Given the description of an element on the screen output the (x, y) to click on. 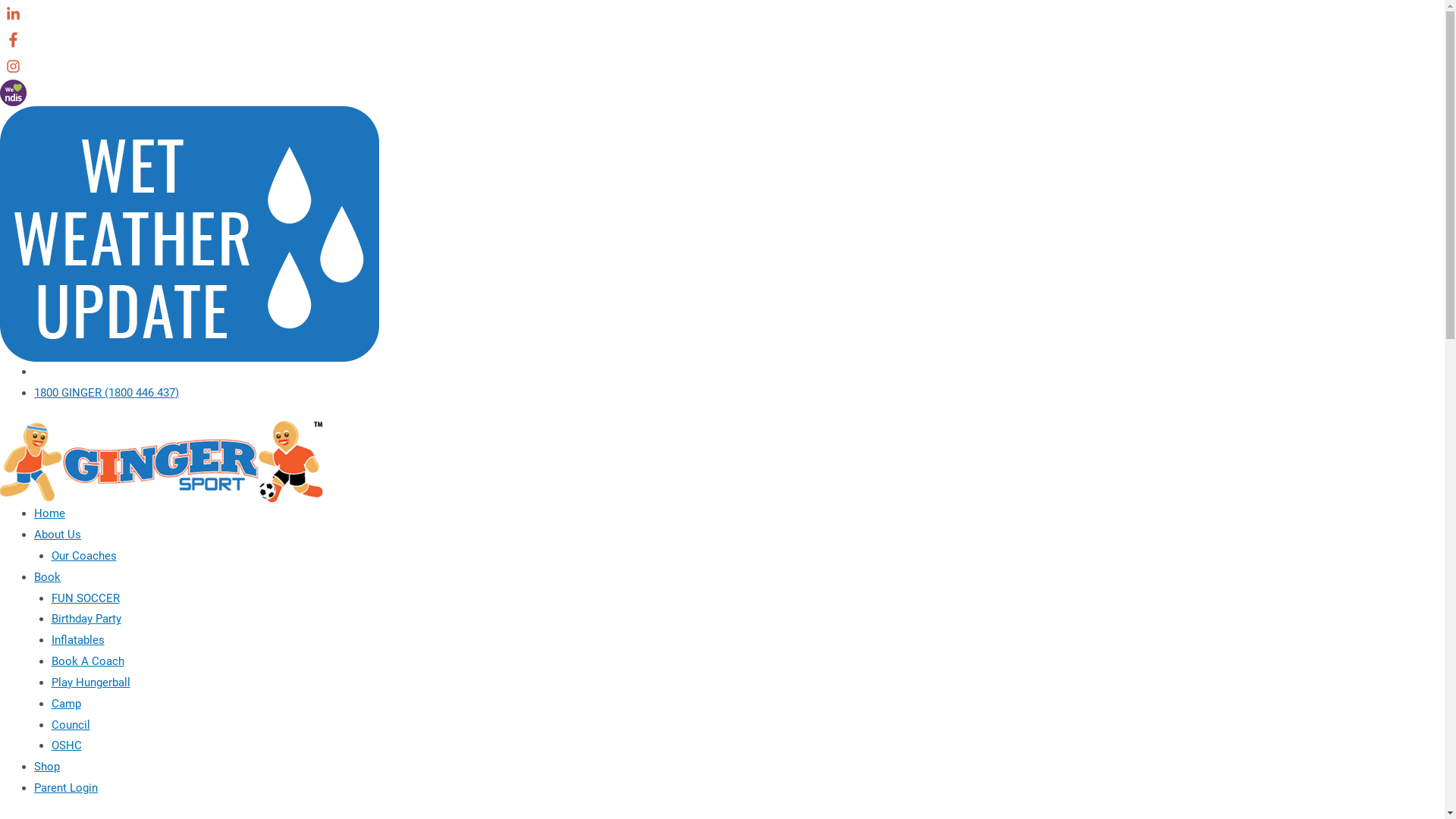
linkedin-icon-300px Element type: hover (13, 13)
FUN SOCCER Element type: text (85, 598)
Birthday Party Element type: text (86, 618)
Our Coaches Element type: text (83, 555)
instagram-icon-300px Element type: hover (13, 66)
we love ndis Element type: hover (13, 92)
Camp Element type: text (66, 703)
Play Hungerball Element type: text (90, 682)
Parent Login Element type: text (65, 787)
OSHC Element type: text (66, 745)
Book A Coach Element type: text (87, 661)
Council Element type: text (70, 724)
Home Element type: text (49, 513)
Book Element type: text (47, 576)
About Us Element type: text (57, 534)
1800 GINGER (1800 446 437) Element type: text (106, 392)
Shop Element type: text (46, 766)
facebook-icon-300px Element type: hover (13, 39)
Inflatables Element type: text (77, 639)
